Given the description of an element on the screen output the (x, y) to click on. 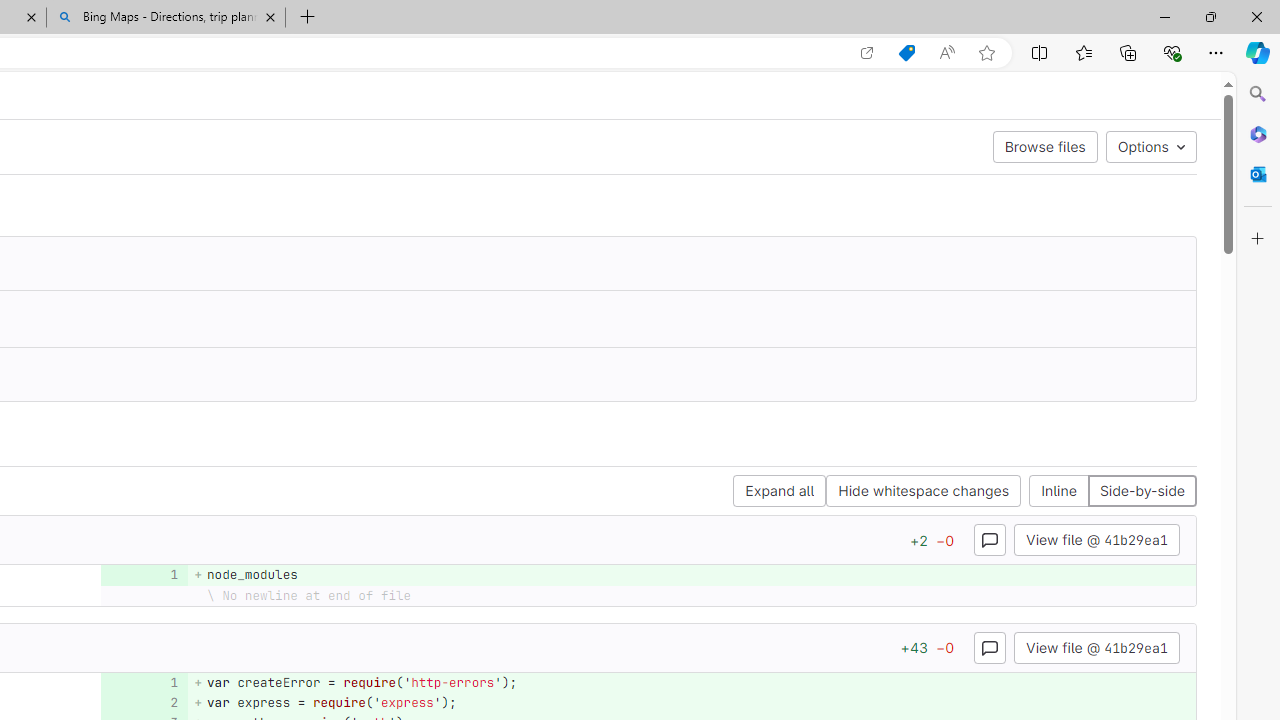
Toggle comments for this file (990, 646)
+ var express = require('express');  (691, 701)
Side-by-side (1141, 491)
2 (141, 701)
Class: s16 gl-icon gl-button-icon  (989, 647)
Hide whitespace changes (923, 491)
1 (141, 681)
Add a comment to this line 2 (144, 701)
Expand all (779, 491)
Open in app (867, 53)
